Given the description of an element on the screen output the (x, y) to click on. 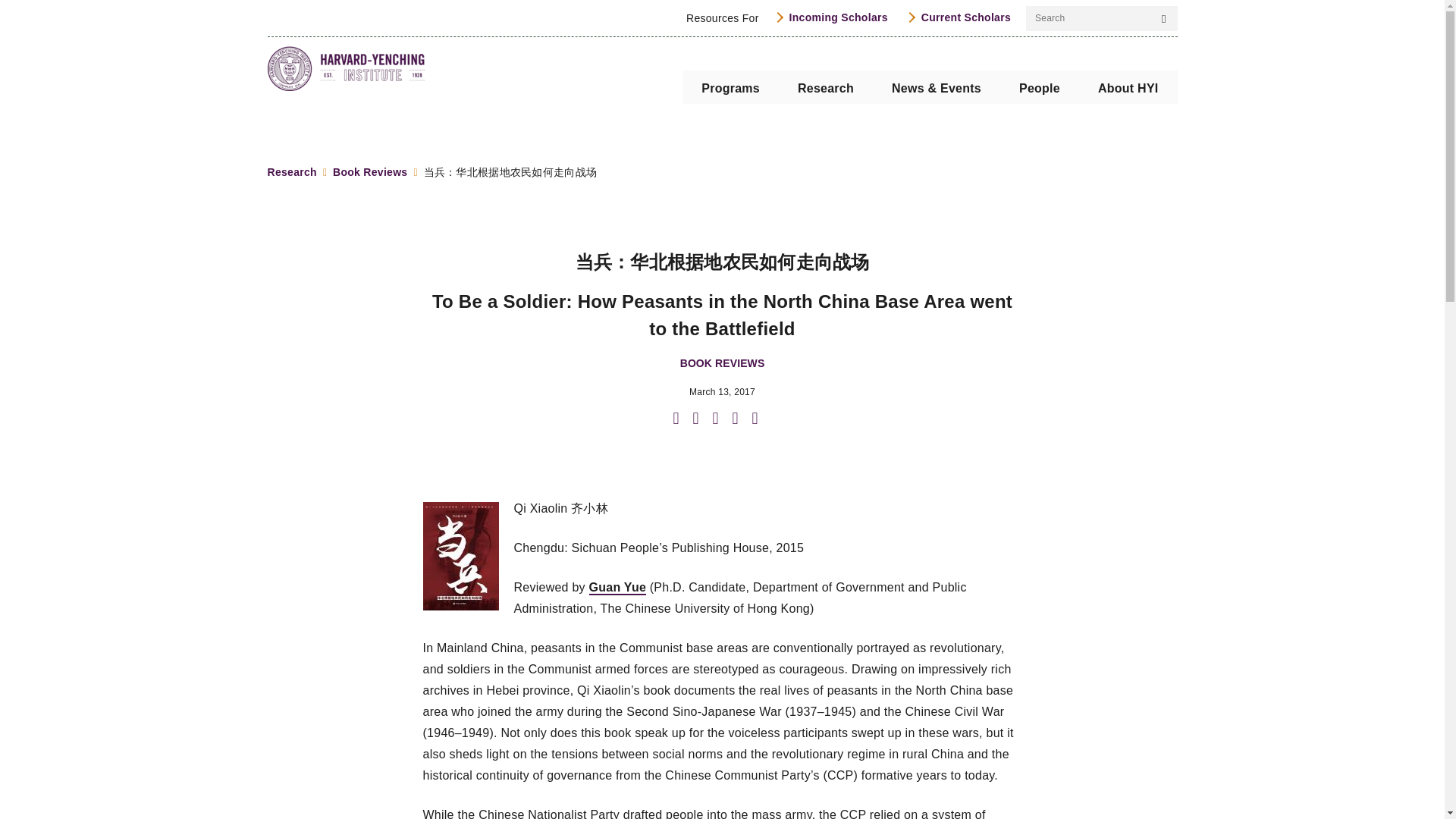
About HYI (1127, 87)
Incoming Scholars (831, 17)
People (1039, 87)
Research (825, 87)
Programs (730, 87)
Current Scholars (957, 17)
